Given the description of an element on the screen output the (x, y) to click on. 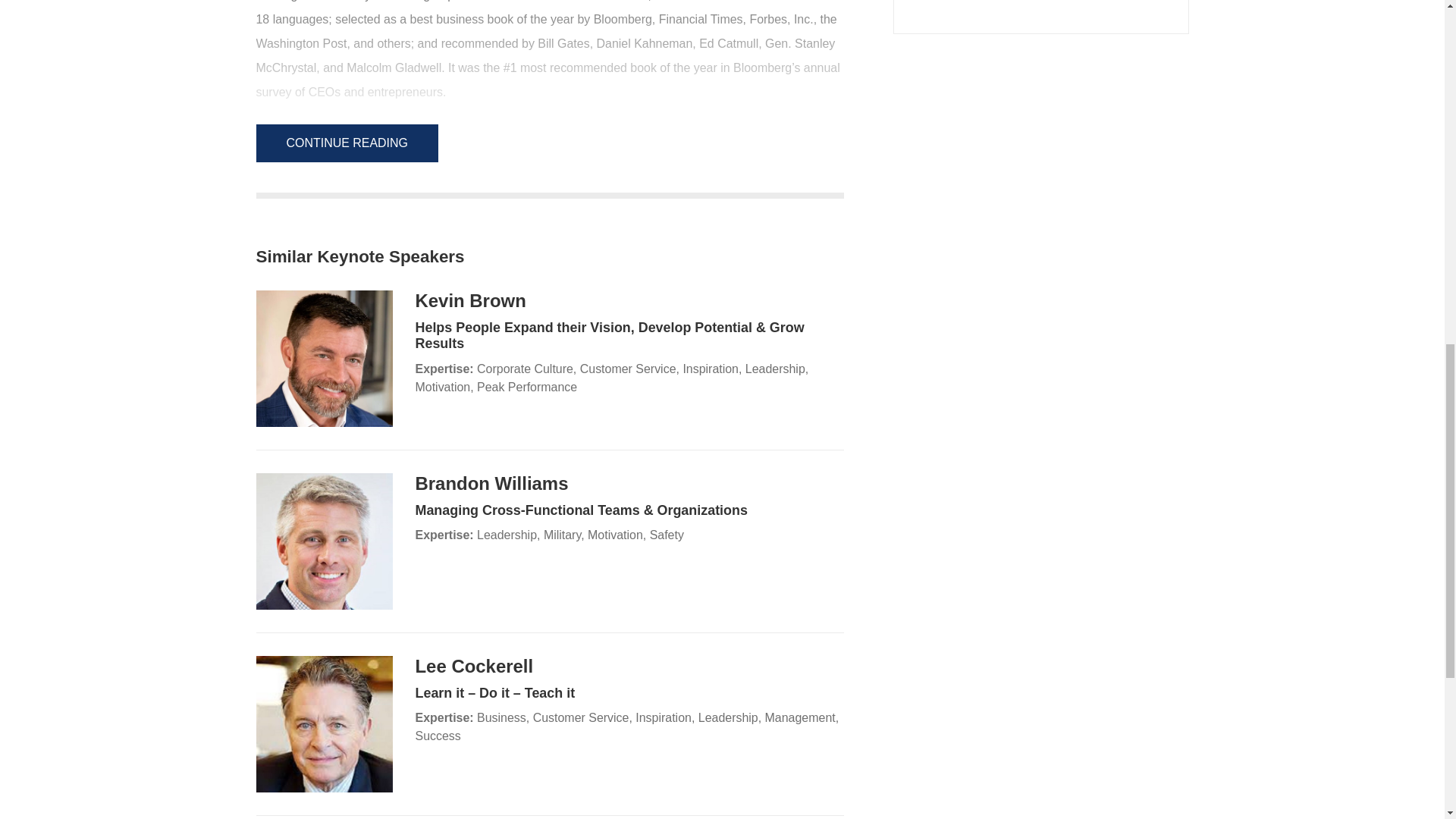
CONTINUE READING (347, 143)
Kevin Brown (469, 300)
Brandon Williams (491, 483)
